Given the description of an element on the screen output the (x, y) to click on. 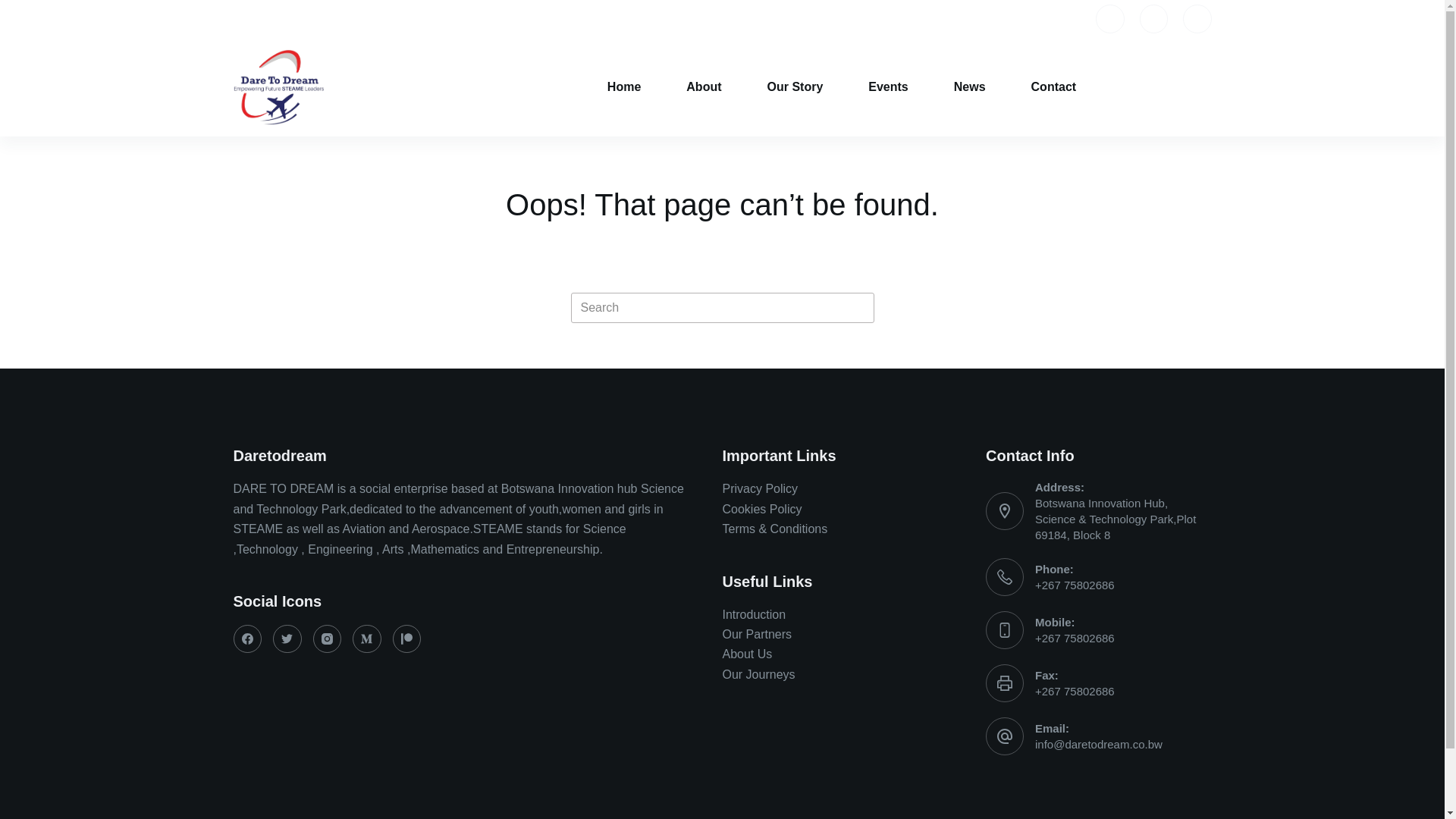
Donate Element type: text (1177, 87)
About Us Element type: text (746, 653)
Skip to content Element type: text (15, 7)
Contact Element type: text (1053, 86)
+267 75802686 Element type: text (1074, 637)
Home Element type: text (623, 86)
Terms & Conditions Element type: text (774, 528)
Privacy Policy Element type: text (759, 488)
Our Partners Element type: text (756, 633)
+267 75802686 Element type: text (1074, 584)
Introduction Element type: text (753, 614)
Our Story Element type: text (795, 86)
About Element type: text (703, 86)
Our Journeys Element type: text (757, 674)
+267 75802686 Element type: text (1074, 690)
Cookies Policy Element type: text (761, 508)
News Element type: text (969, 86)
info@daretodream.co.bw Element type: text (1098, 743)
Search for... Element type: hover (721, 307)
Events Element type: text (887, 86)
